Given the description of an element on the screen output the (x, y) to click on. 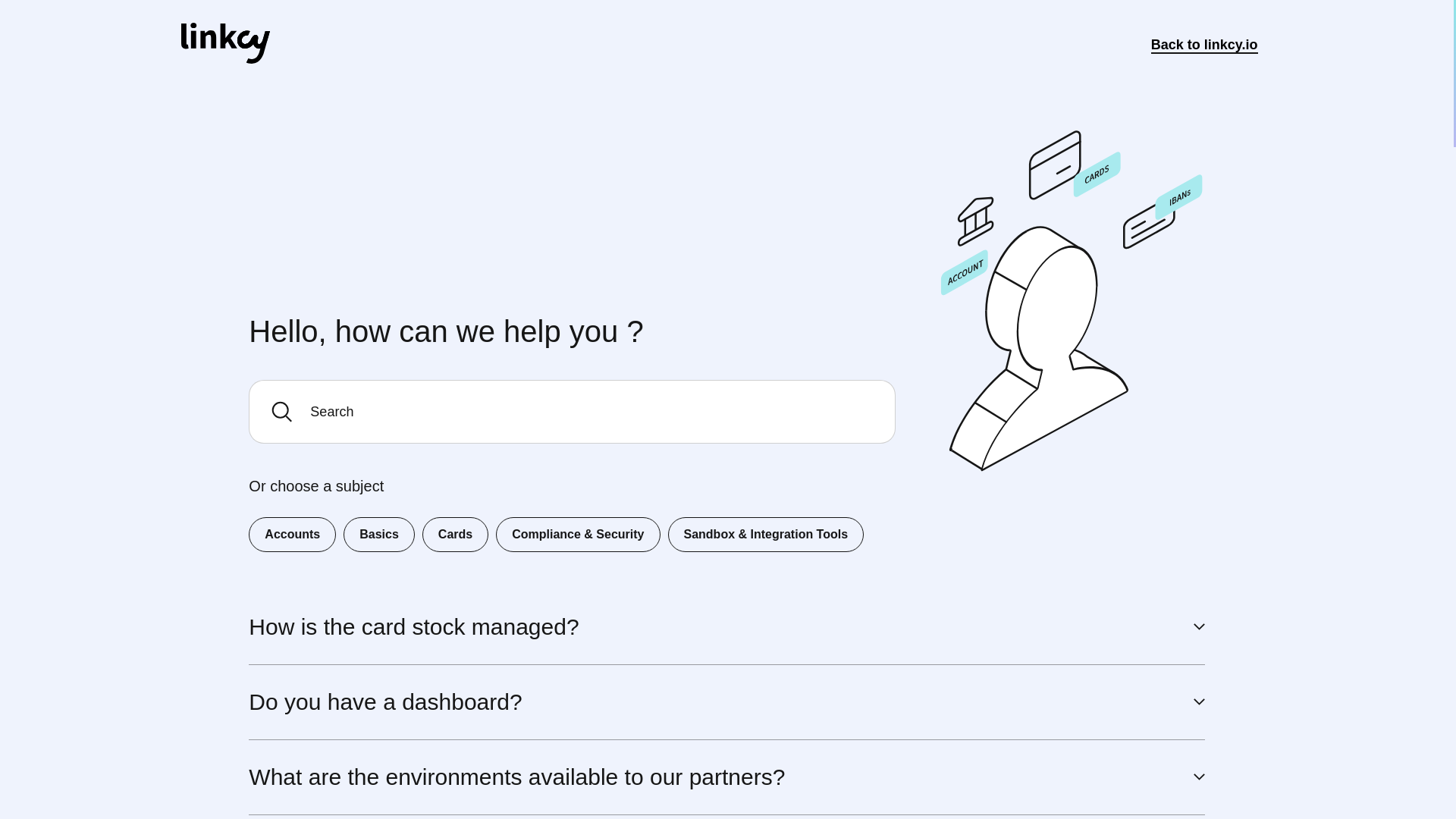
Back to linkcy.io (1204, 45)
